Given the description of an element on the screen output the (x, y) to click on. 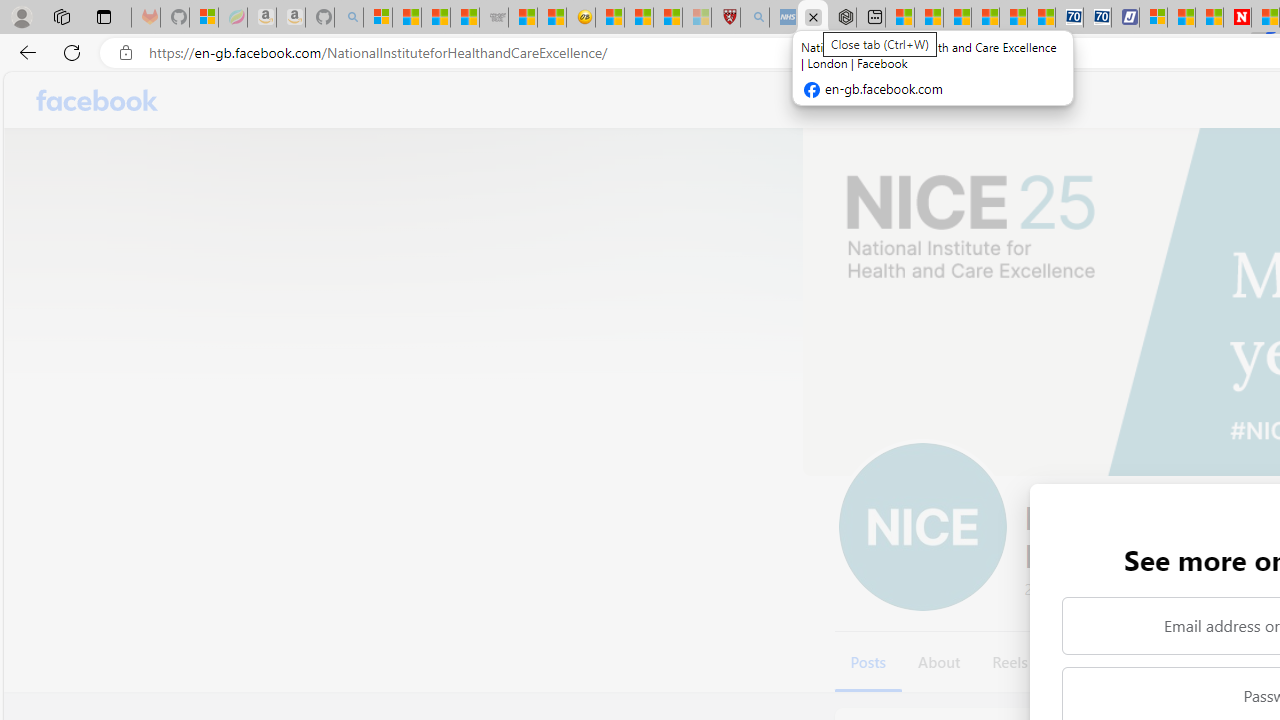
Facebook (97, 99)
Newsweek - News, Analysis, Politics, Business, Technology (1236, 17)
Cheap Car Rentals - Save70.com (1069, 17)
Facebook (97, 99)
